Given the description of an element on the screen output the (x, y) to click on. 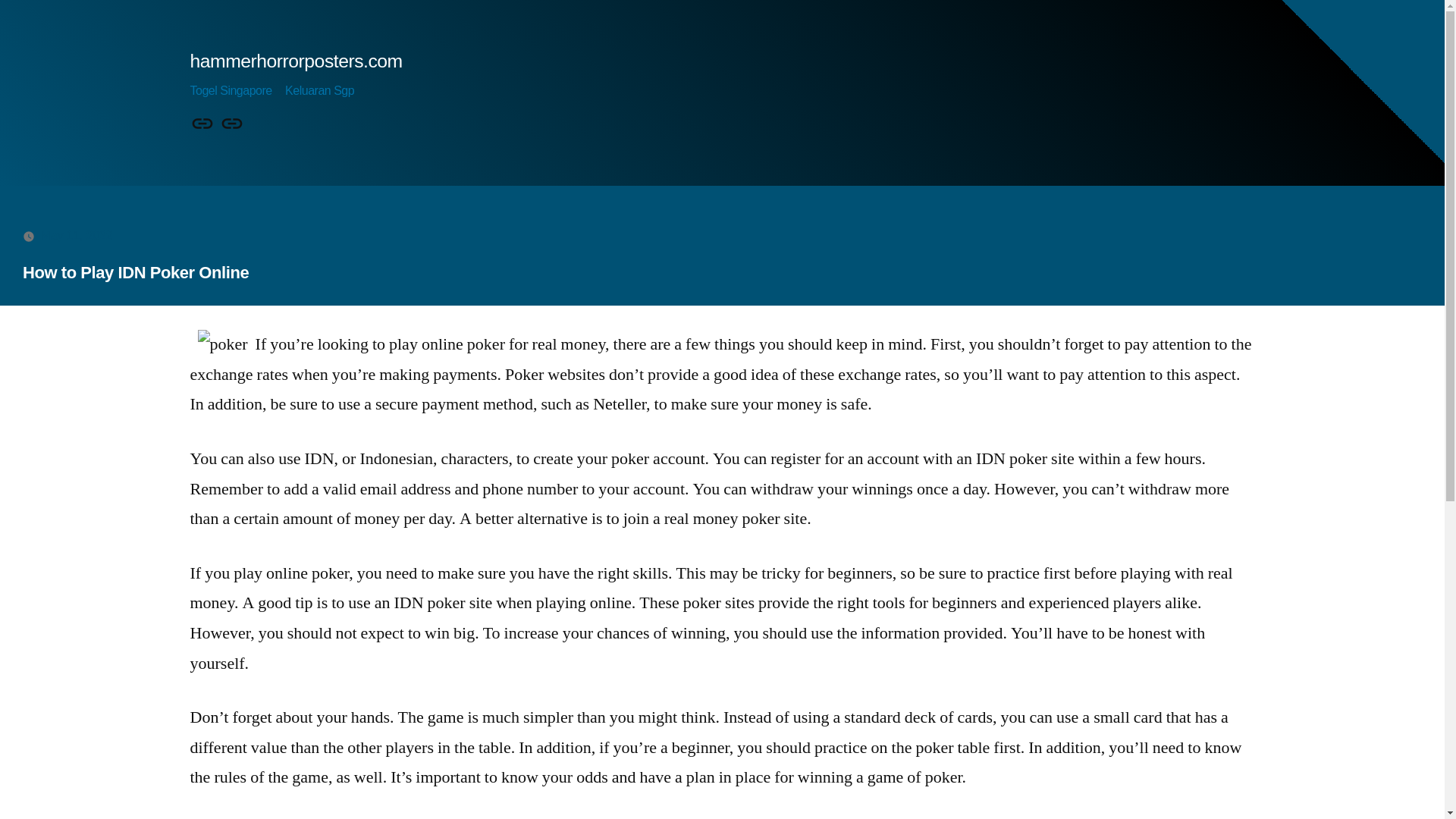
hammerhorrorposters.com (295, 60)
Keluaran Sgp (319, 90)
Keluaran Sgp (231, 123)
Togel Singapore (229, 90)
May 11, 2022 (76, 235)
Togel Singapore (201, 123)
